Given the description of an element on the screen output the (x, y) to click on. 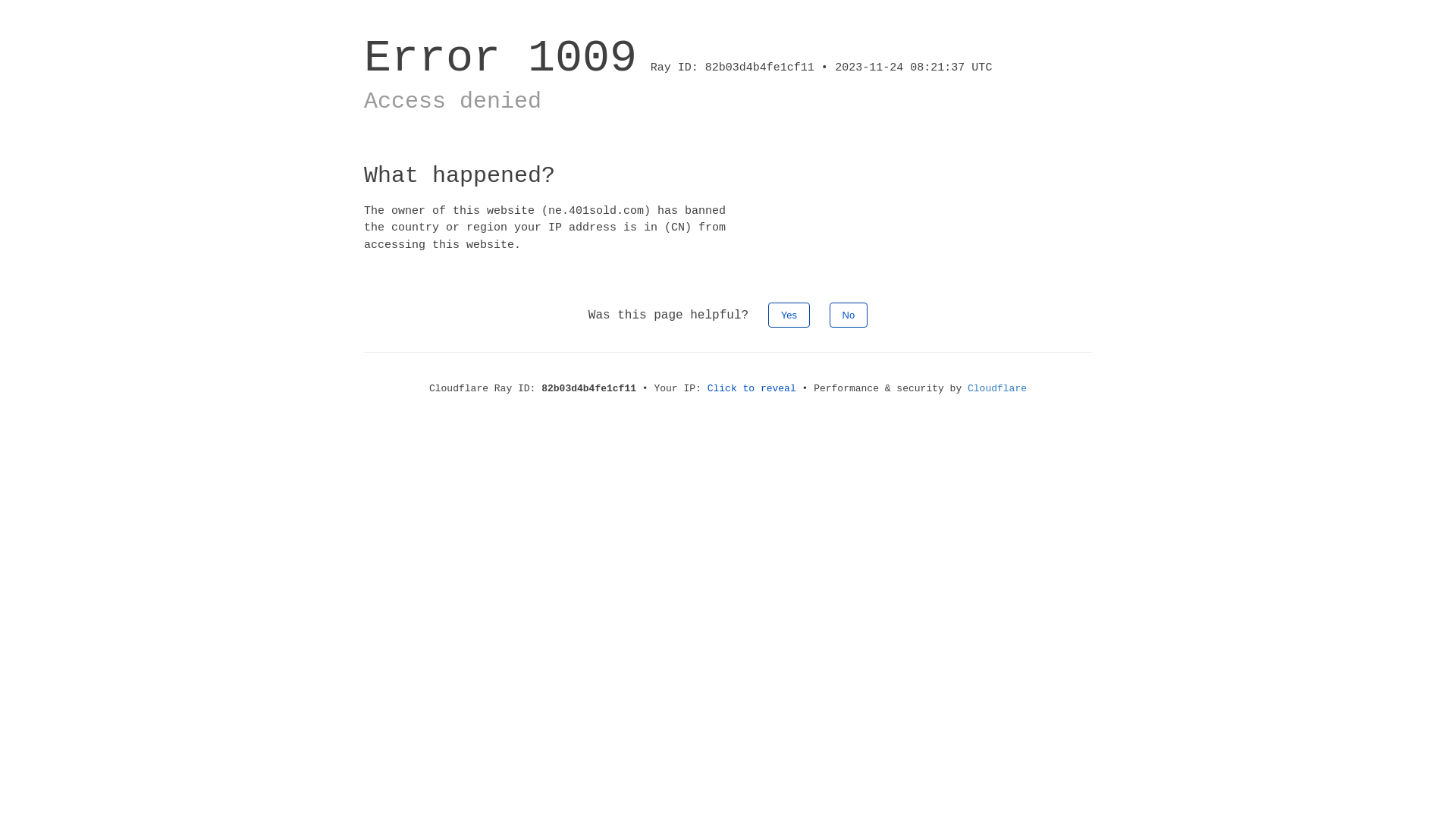
Click to reveal Element type: text (751, 388)
Yes Element type: text (788, 314)
Cloudflare Element type: text (996, 388)
No Element type: text (848, 314)
